Given the description of an element on the screen output the (x, y) to click on. 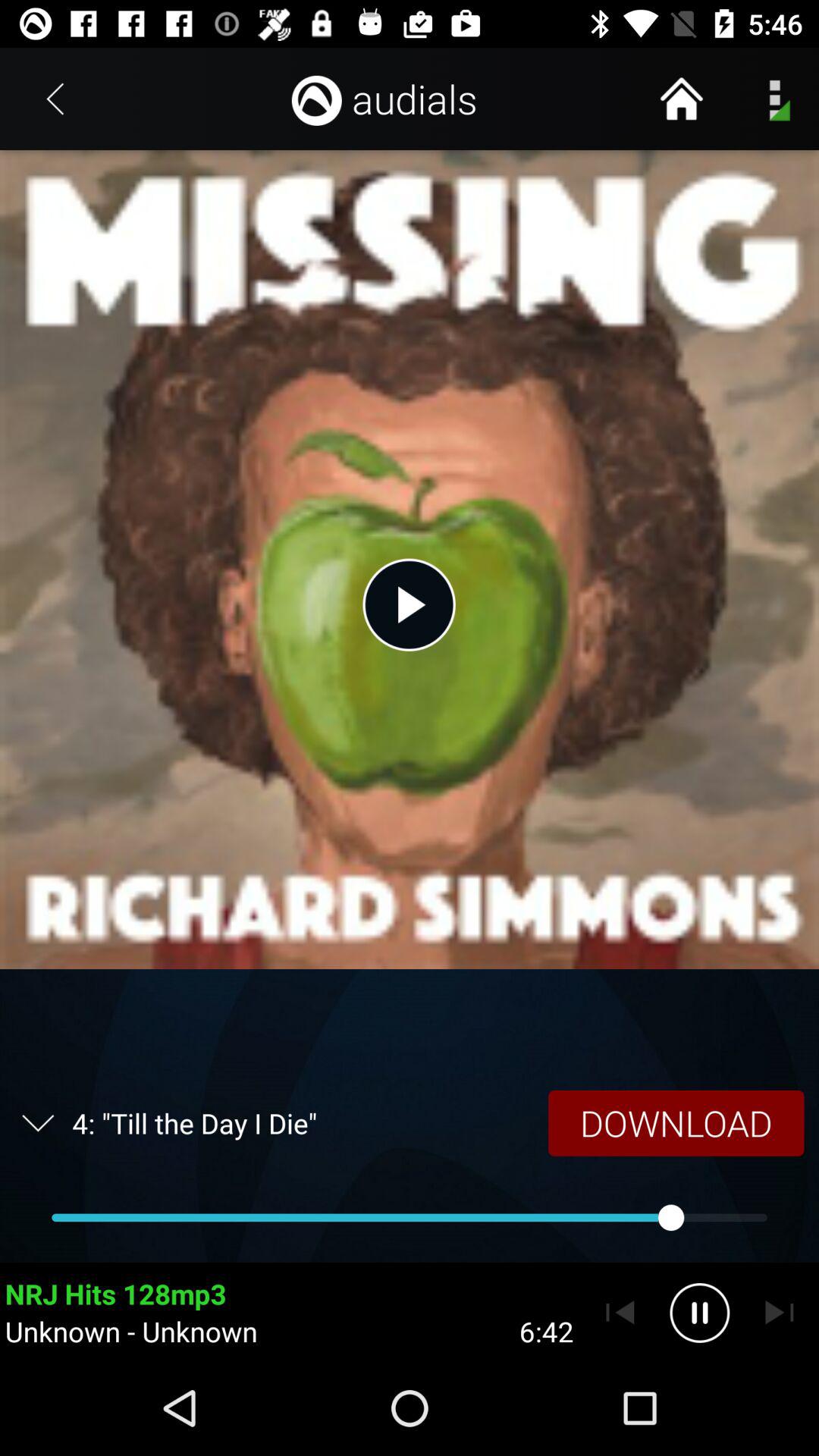
click on the play icon (409, 604)
click home button (681, 98)
click on next button (779, 1312)
click on previous button (619, 1312)
select the icon which is next to the home button (773, 98)
